Given the description of an element on the screen output the (x, y) to click on. 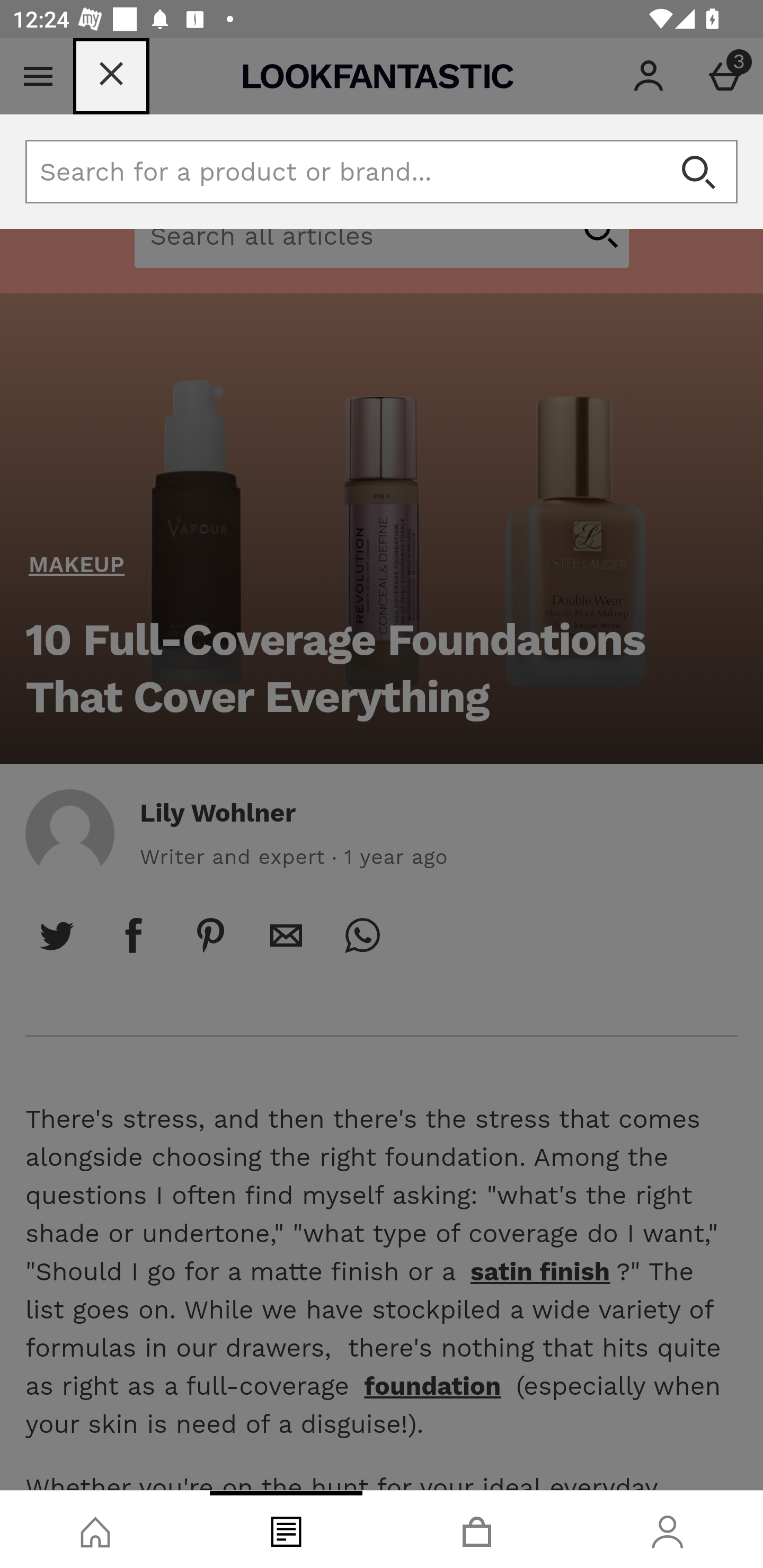
Close (111, 75)
Open search (697, 171)
Shop, tab, 1 of 4 (95, 1529)
Blog, tab, 2 of 4 (285, 1529)
Basket, tab, 3 of 4 (476, 1529)
Account, tab, 4 of 4 (667, 1529)
